Given the description of an element on the screen output the (x, y) to click on. 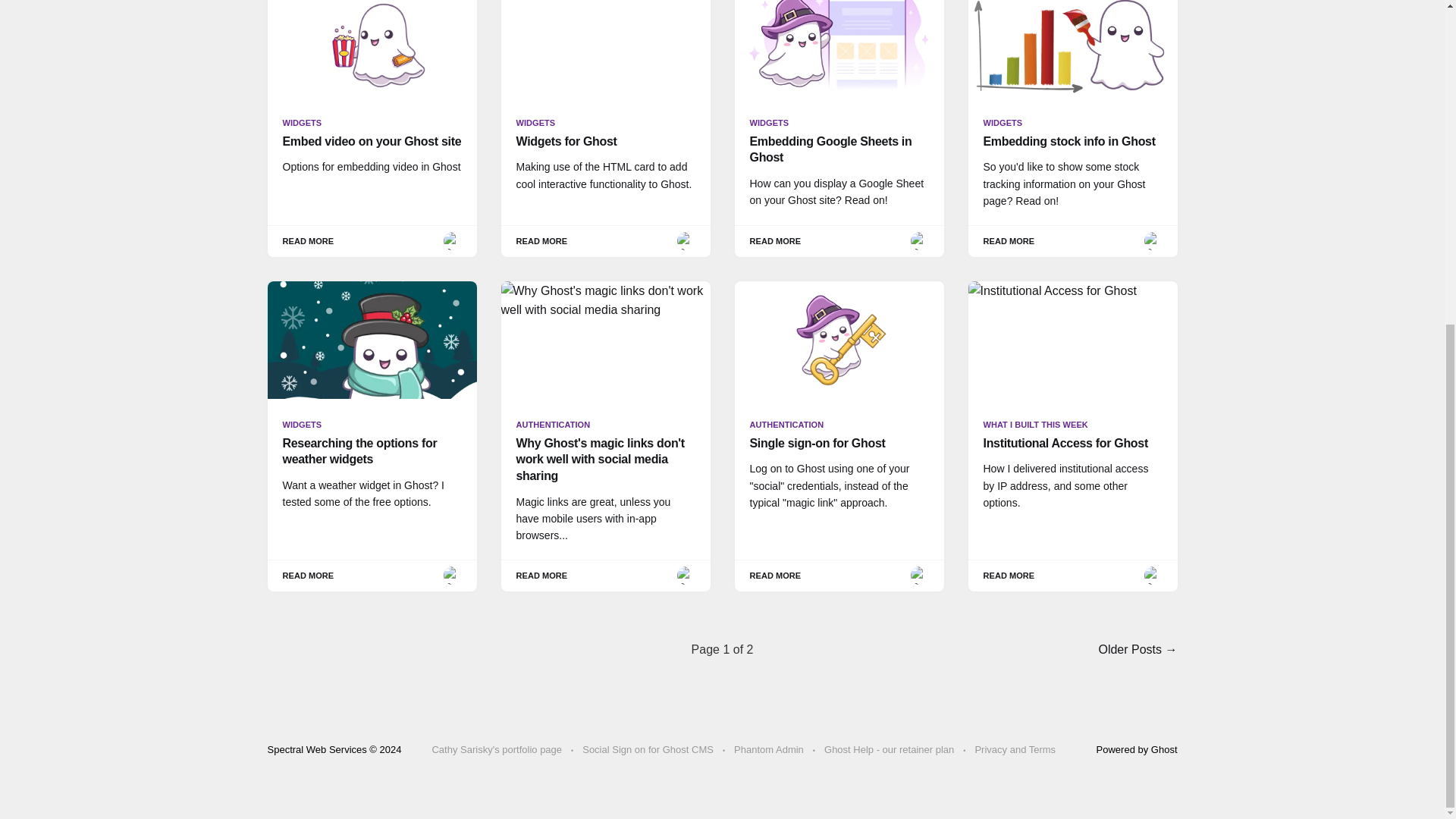
Powered by Ghost (1136, 749)
Ghost Help - our retainer plan (888, 750)
Phantom Admin (768, 750)
Privacy and Terms (1014, 750)
Cathy Sarisky's portfolio page (496, 750)
Social Sign on for Ghost CMS (647, 750)
